Given the description of an element on the screen output the (x, y) to click on. 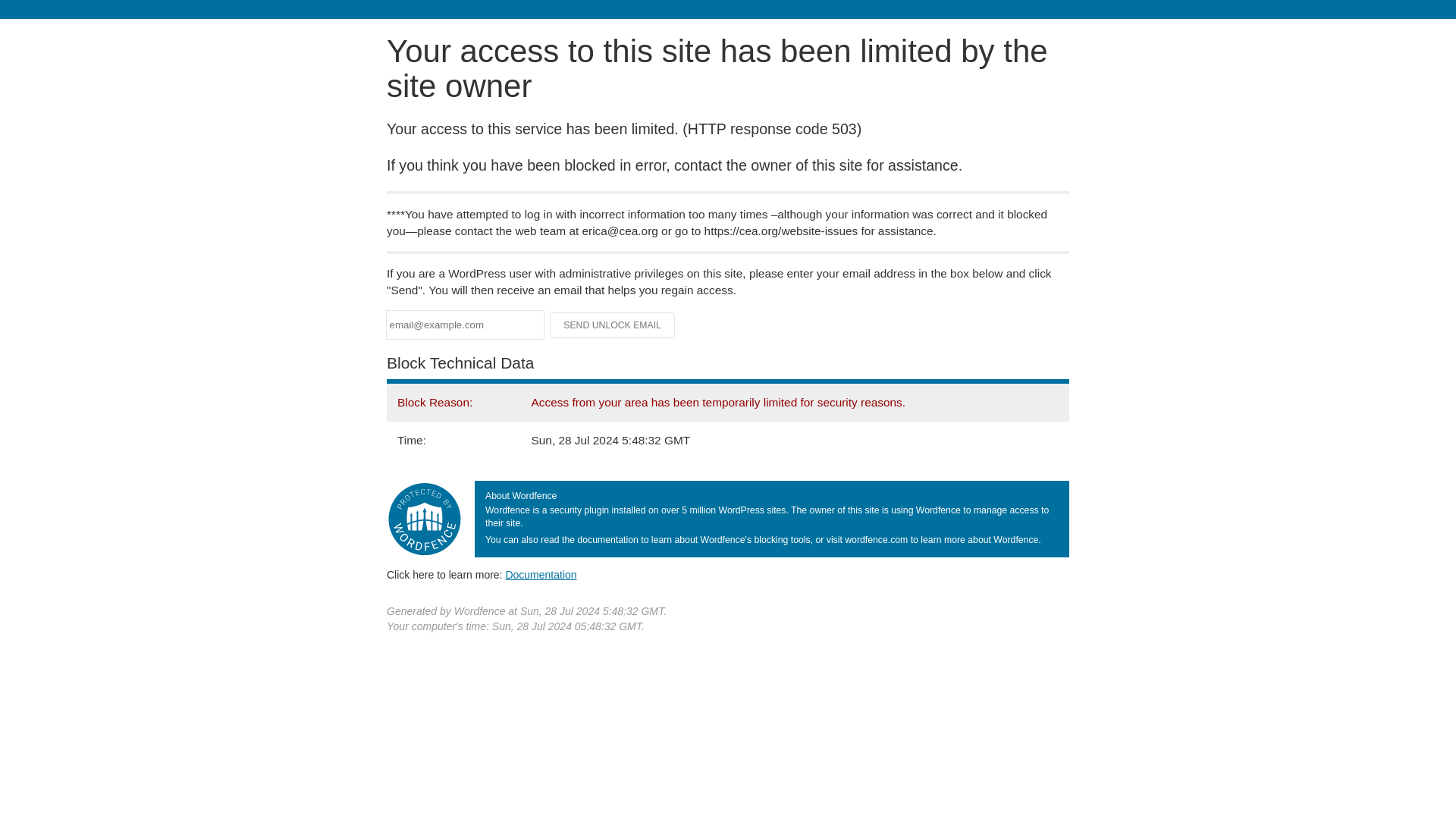
Send Unlock Email (612, 325)
Send Unlock Email (612, 325)
Documentation (540, 574)
